Given the description of an element on the screen output the (x, y) to click on. 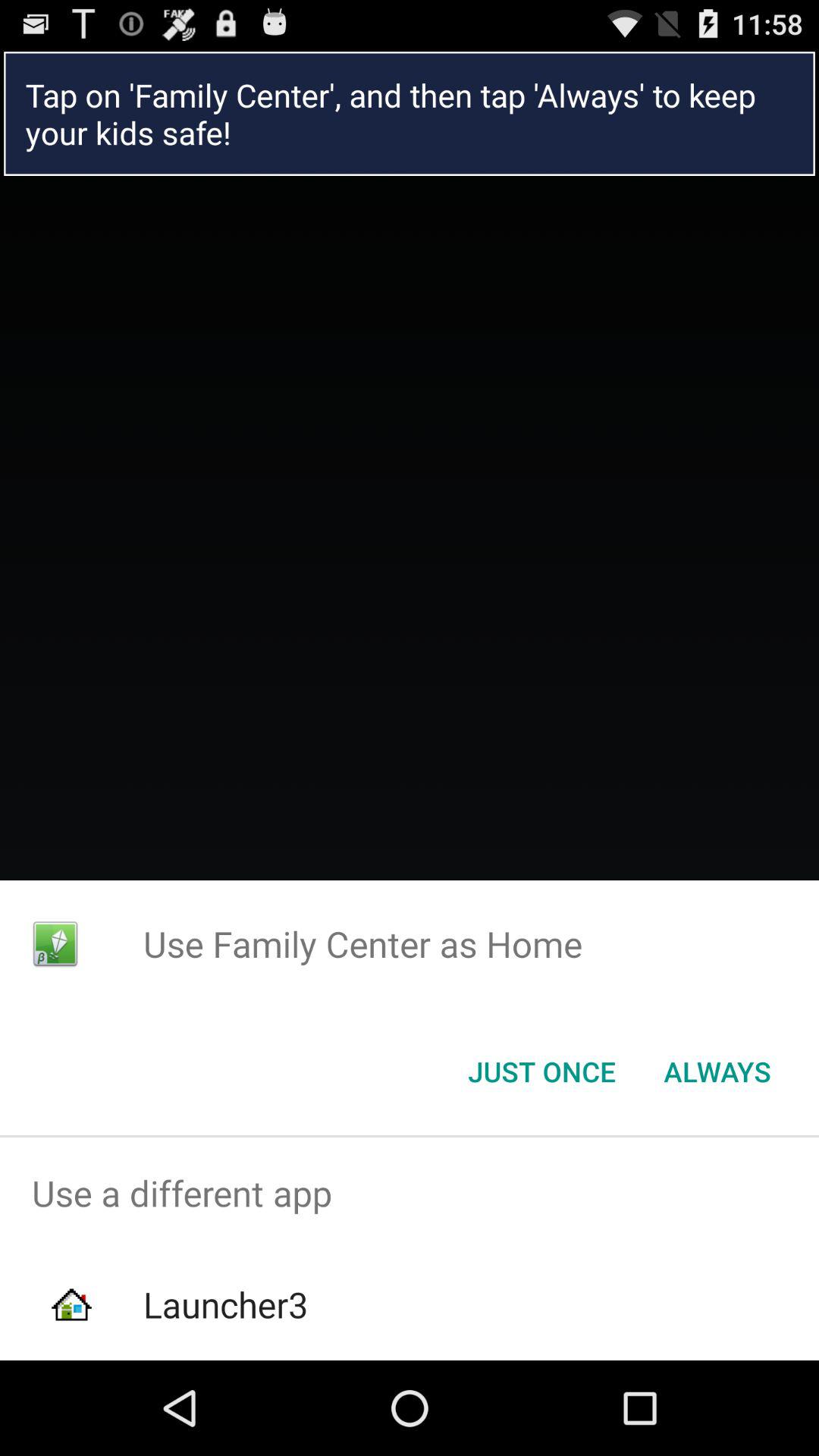
turn off button next to the just once button (717, 1071)
